Given the description of an element on the screen output the (x, y) to click on. 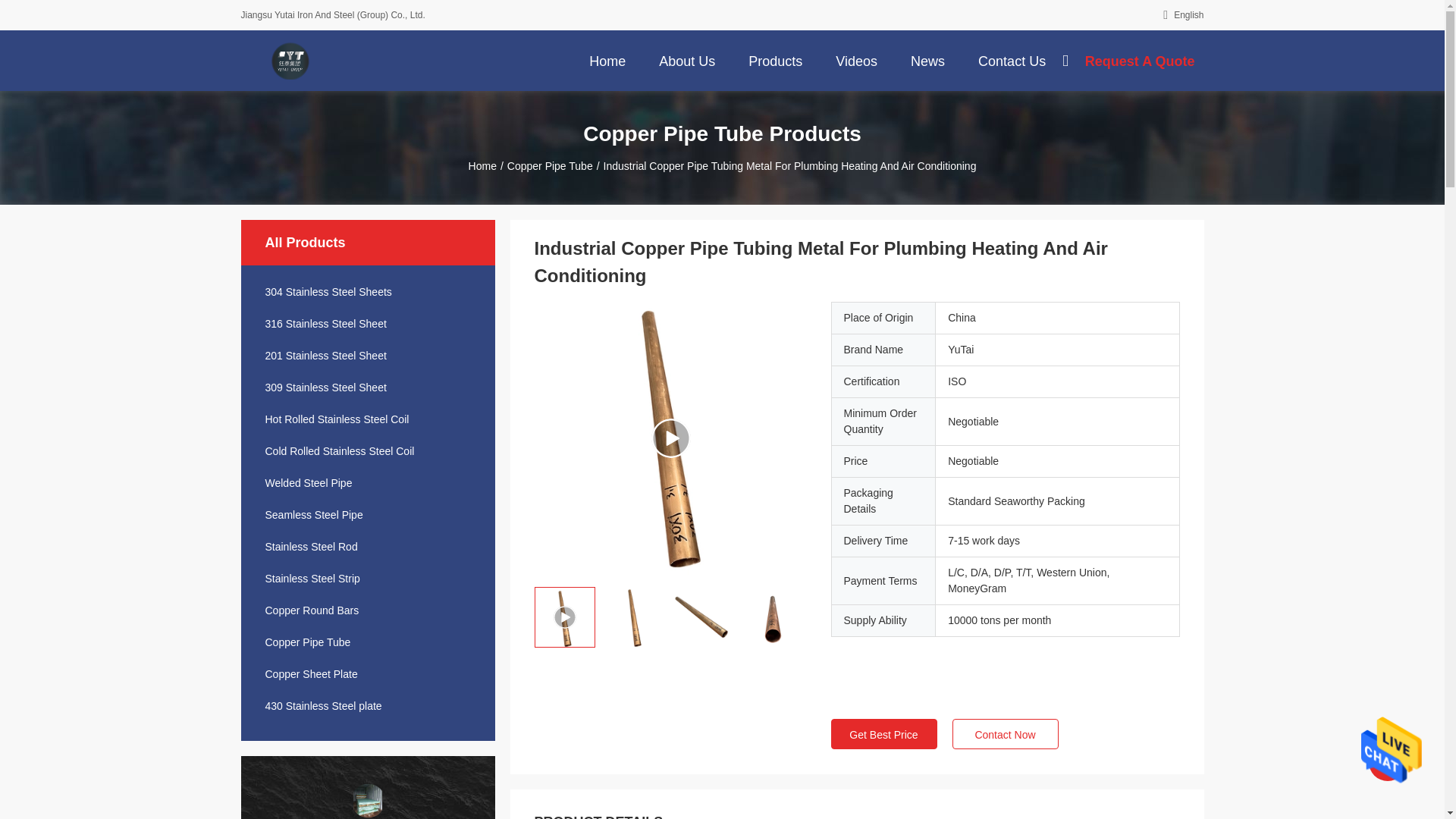
About Us (686, 60)
Products (774, 60)
Home (606, 60)
